Given the description of an element on the screen output the (x, y) to click on. 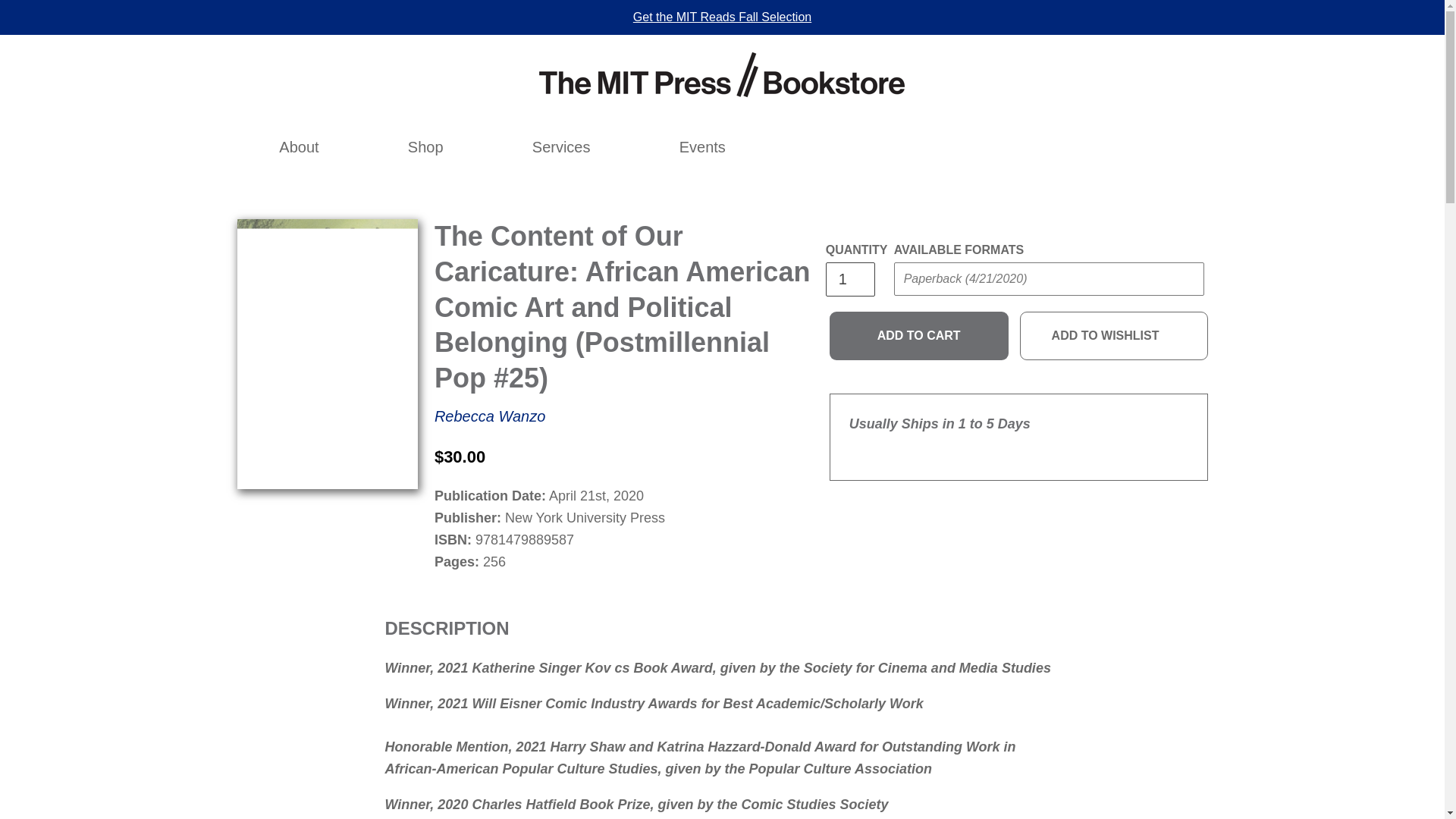
Search (989, 146)
SEARCH (989, 146)
Cart (1088, 146)
Wishlists (1055, 146)
Events (702, 146)
Submit (1169, 135)
Log in (1022, 146)
ADD TO WISHLIST (1114, 336)
Log in (1022, 146)
